Given the description of an element on the screen output the (x, y) to click on. 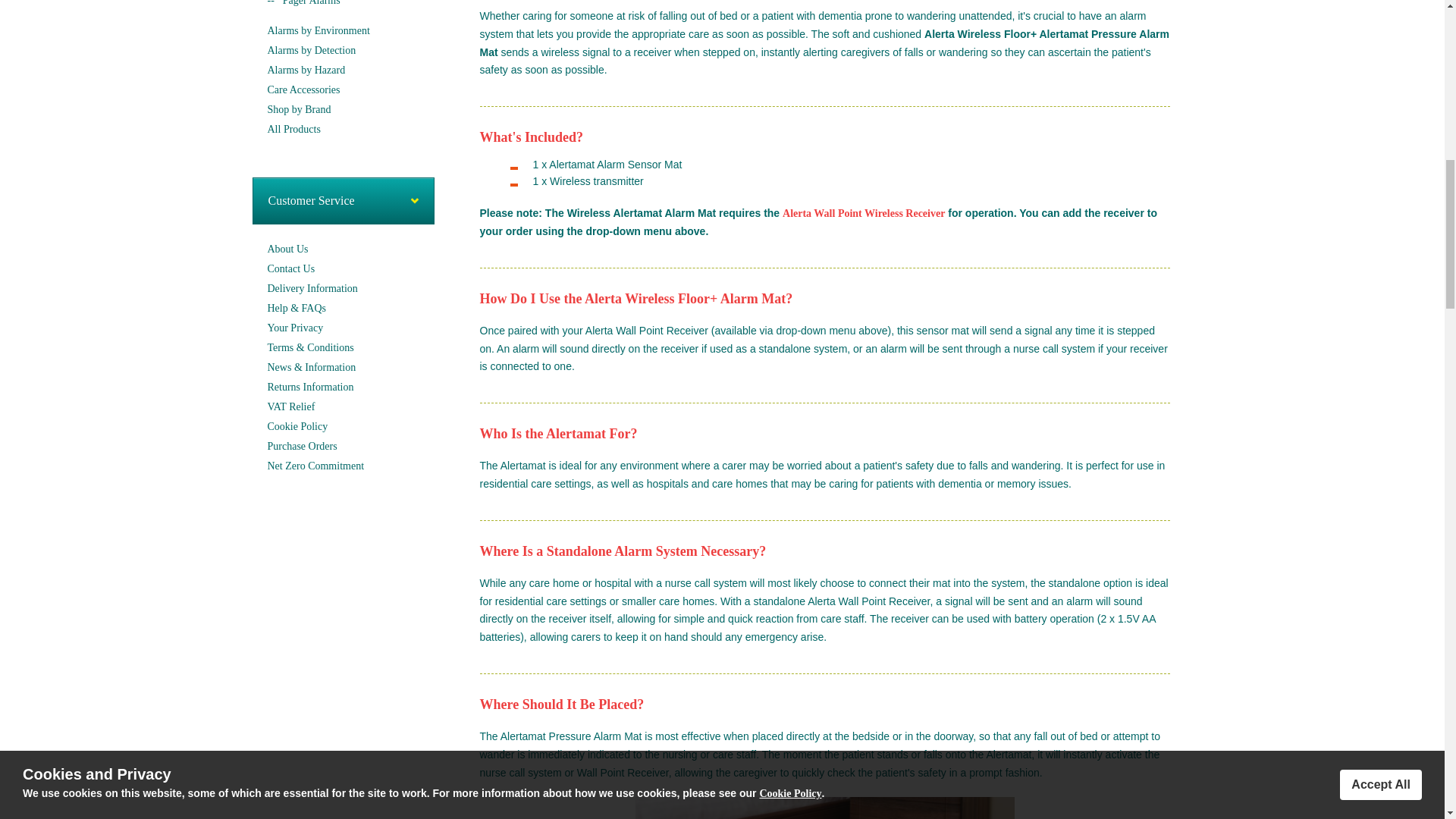
Care Accessories (302, 89)
Contact Us (290, 268)
Your Privacy (294, 327)
All Products (293, 129)
Delivery Information (311, 288)
Alarms by Hazard (305, 70)
Pager Alarms (311, 4)
Alarms by Environment (317, 30)
Alerta Wireless Mat in use (824, 807)
About Us (286, 248)
Shop by Brand (298, 109)
Alarms by Detection (310, 50)
